Given the description of an element on the screen output the (x, y) to click on. 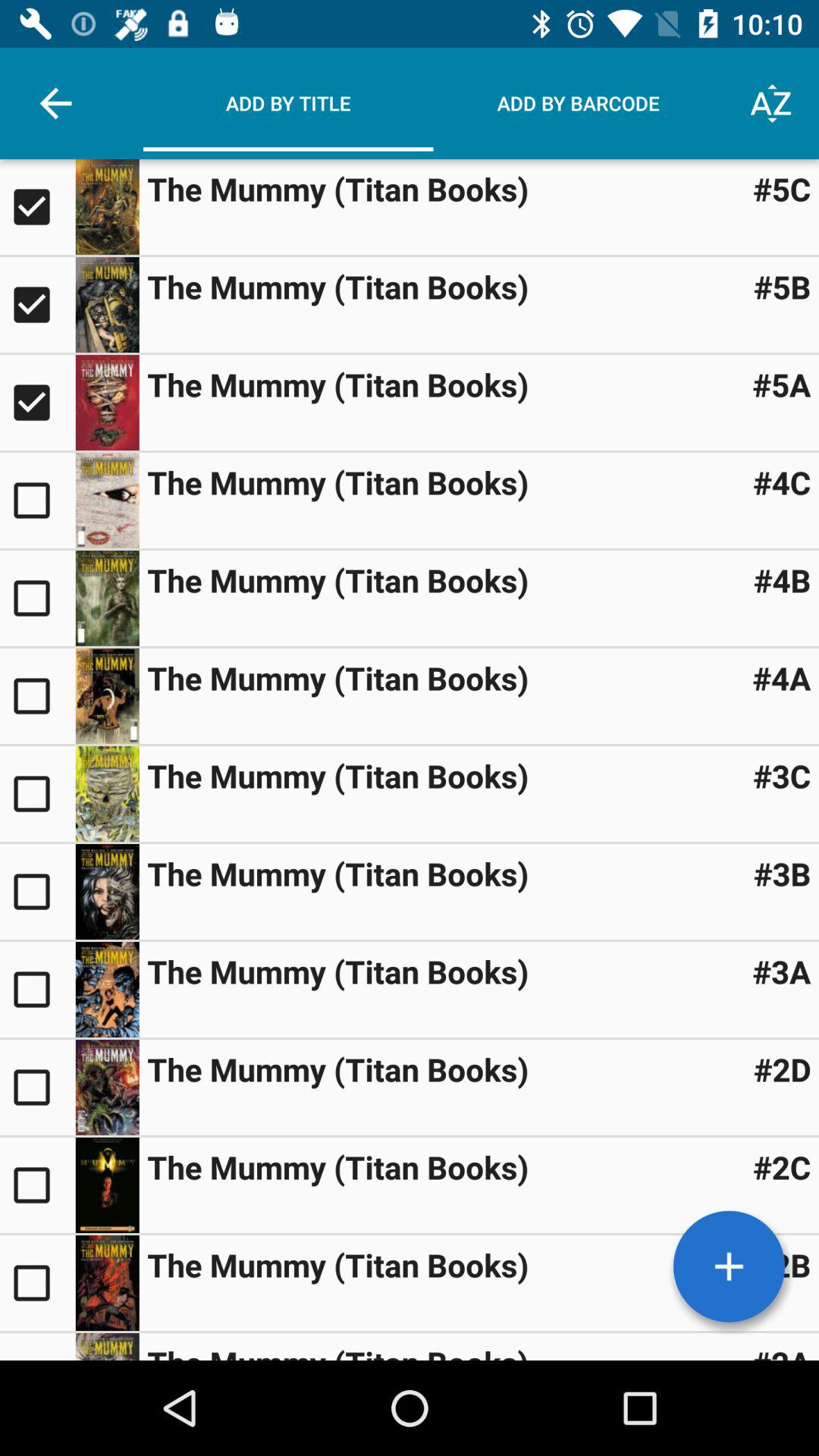
select item (107, 304)
